Given the description of an element on the screen output the (x, y) to click on. 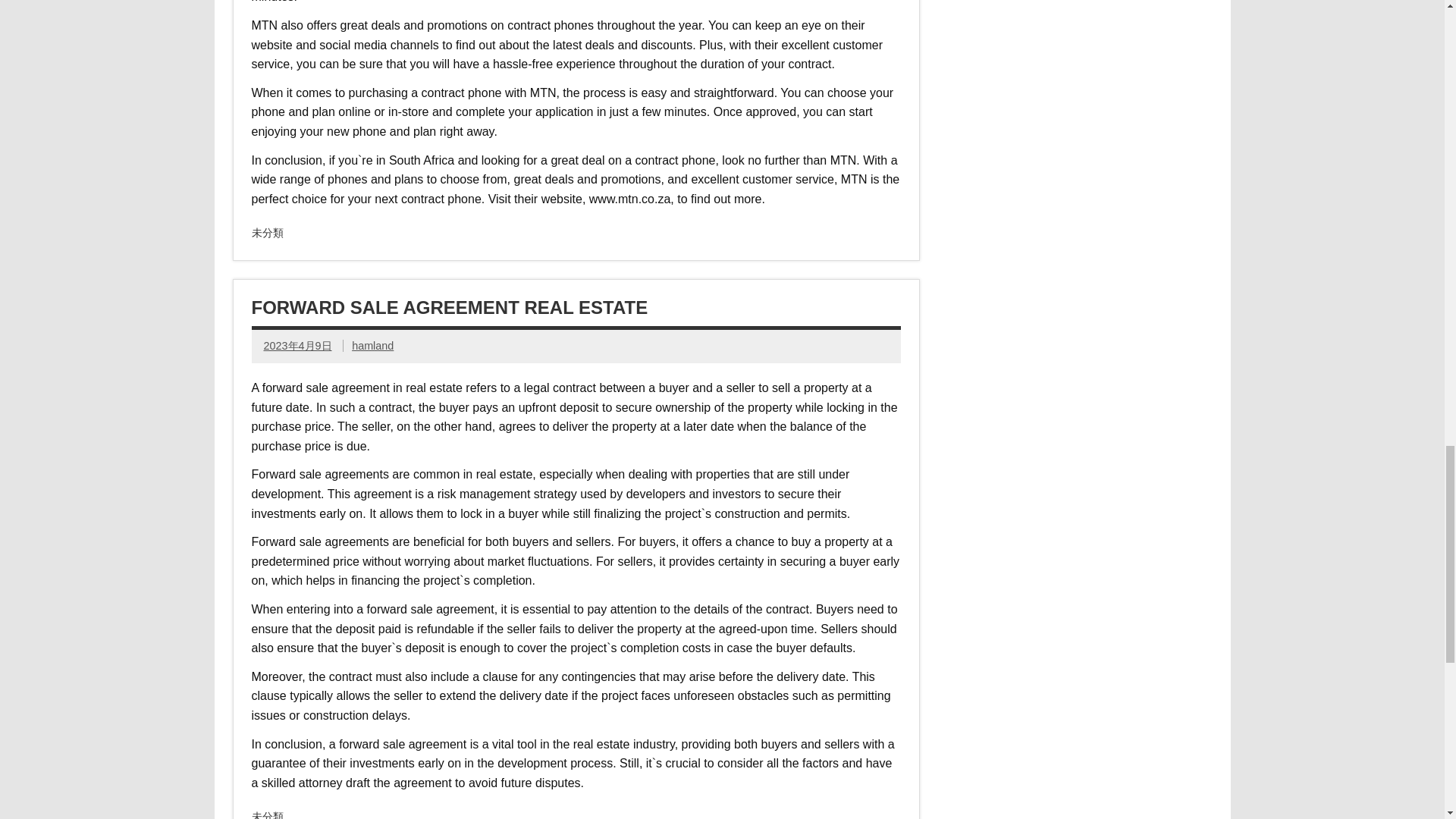
FORWARD SALE AGREEMENT REAL ESTATE (449, 307)
View all posts by hamland (372, 345)
hamland (372, 345)
10:06 PM (297, 345)
